Given the description of an element on the screen output the (x, y) to click on. 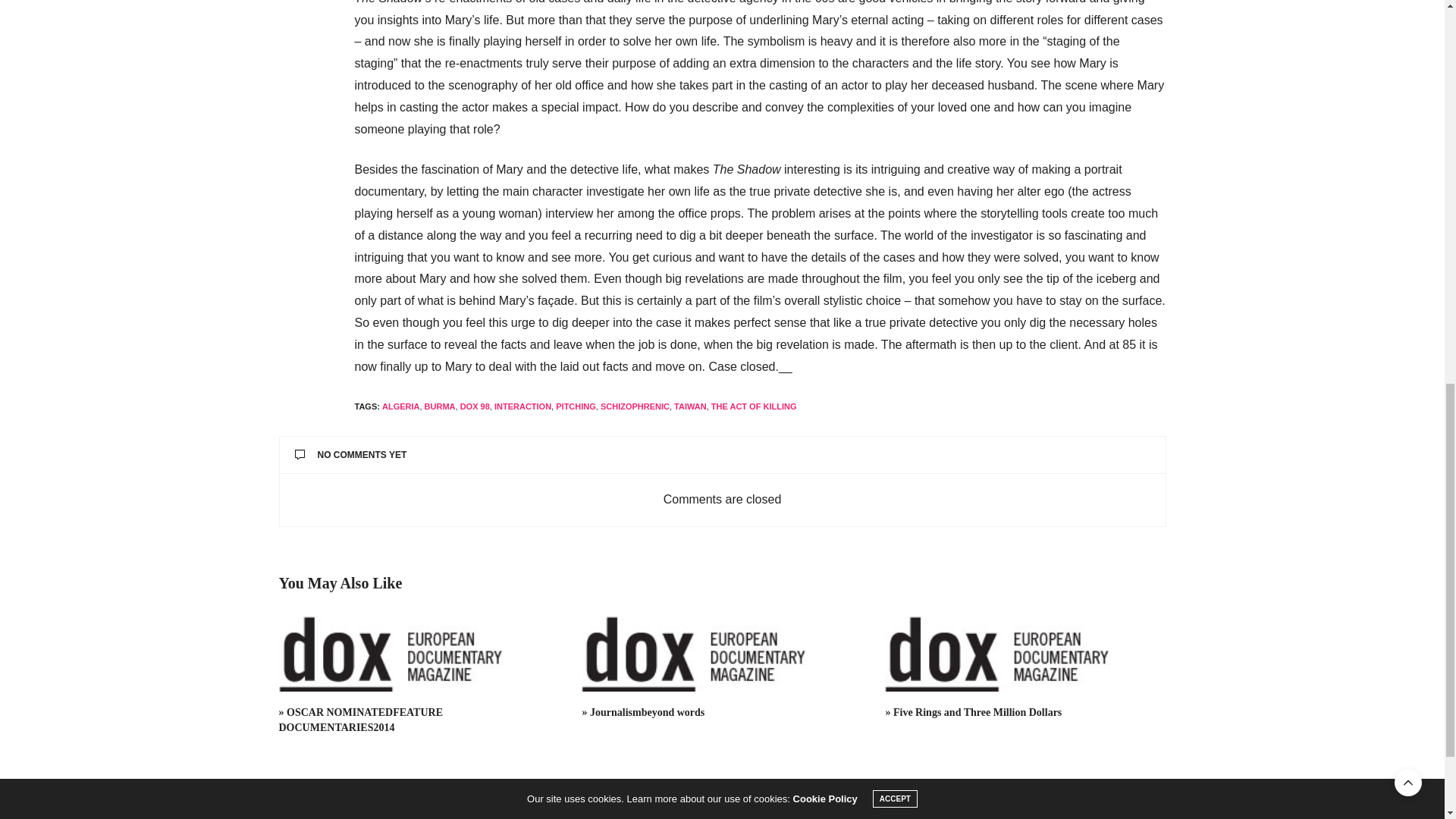
PITCHING (575, 406)
ALGERIA (400, 406)
INTERACTION (523, 406)
TAIWAN (690, 406)
BURMA (440, 406)
DOX 98 (474, 406)
SCHIZOPHRENIC (634, 406)
THE ACT OF KILLING (753, 406)
NO COMMENTS YET (721, 455)
